Given the description of an element on the screen output the (x, y) to click on. 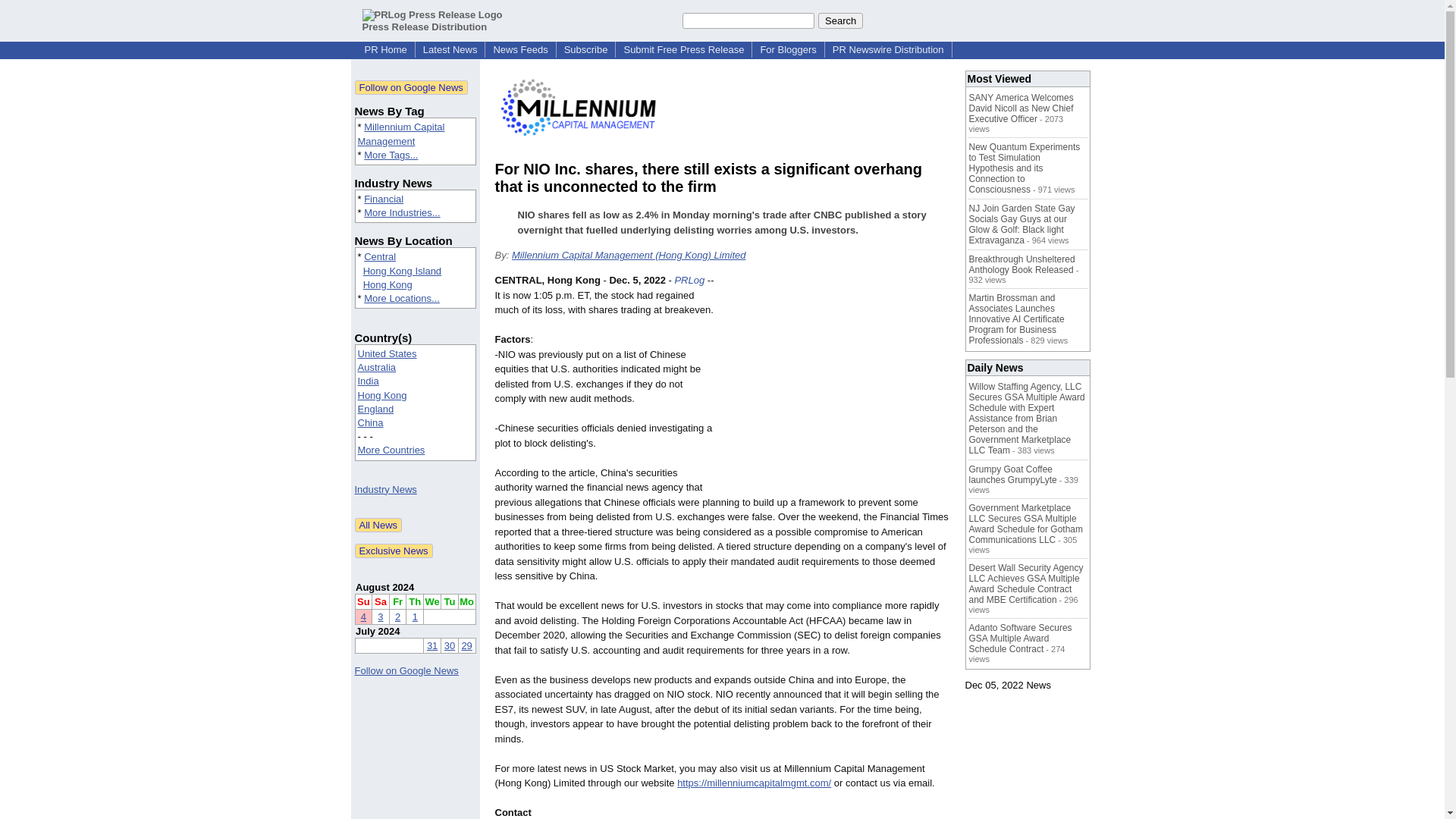
Submit Free Press Release (683, 49)
PRLog (689, 279)
PR Newswire Distribution (888, 49)
Exclusive News (393, 550)
For Bloggers (788, 49)
England (376, 408)
Follow on Google News (406, 670)
More Tags... (390, 154)
China (371, 422)
Hong Kong (387, 284)
Click on an option to filter or browse by that option (415, 402)
Australia (377, 367)
Search (840, 20)
Industry News (385, 489)
Follow on Google News (411, 87)
